Given the description of an element on the screen output the (x, y) to click on. 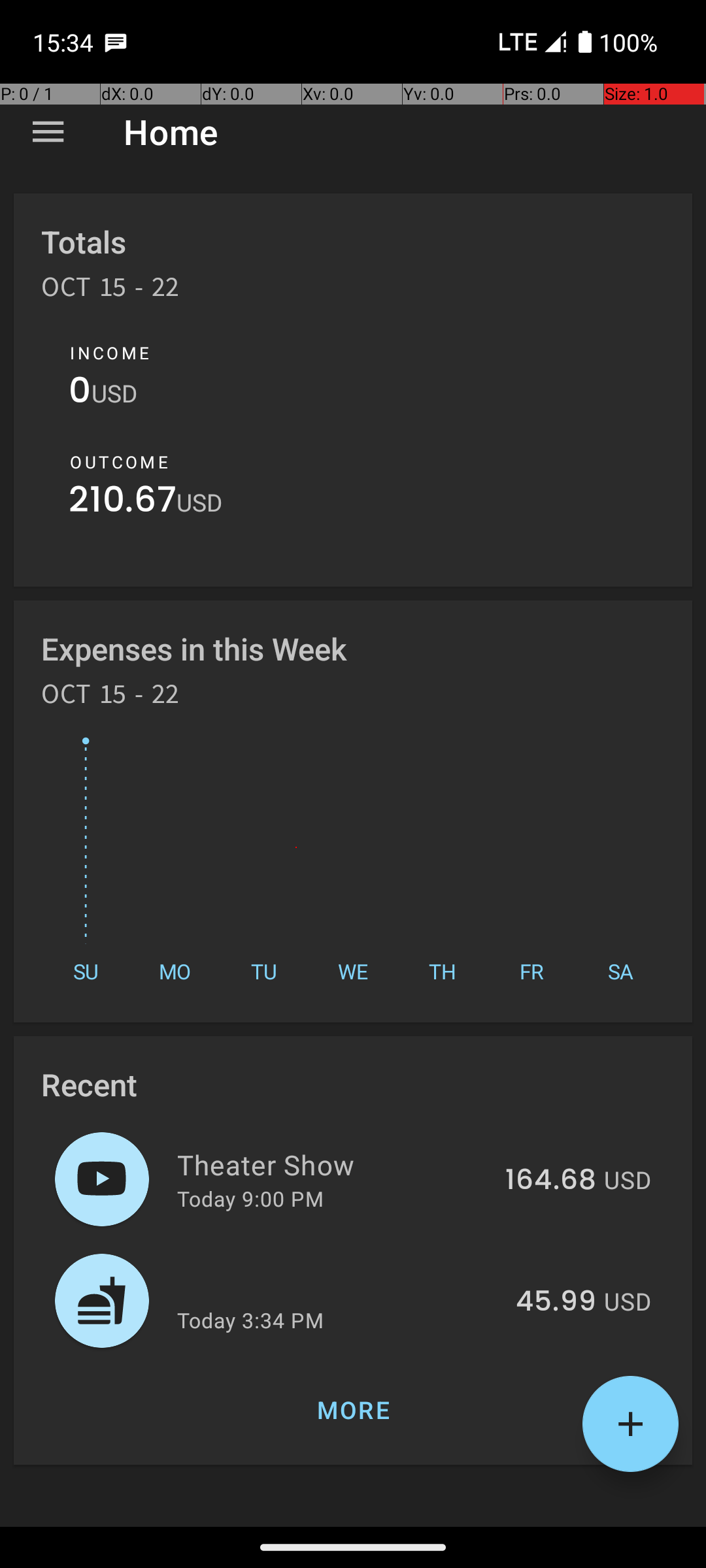
210.67 Element type: android.widget.TextView (122, 502)
Theater Show Element type: android.widget.TextView (333, 1164)
164.68 Element type: android.widget.TextView (550, 1180)
Today 3:34 PM Element type: android.widget.TextView (250, 1320)
45.99 Element type: android.widget.TextView (555, 1301)
